Given the description of an element on the screen output the (x, y) to click on. 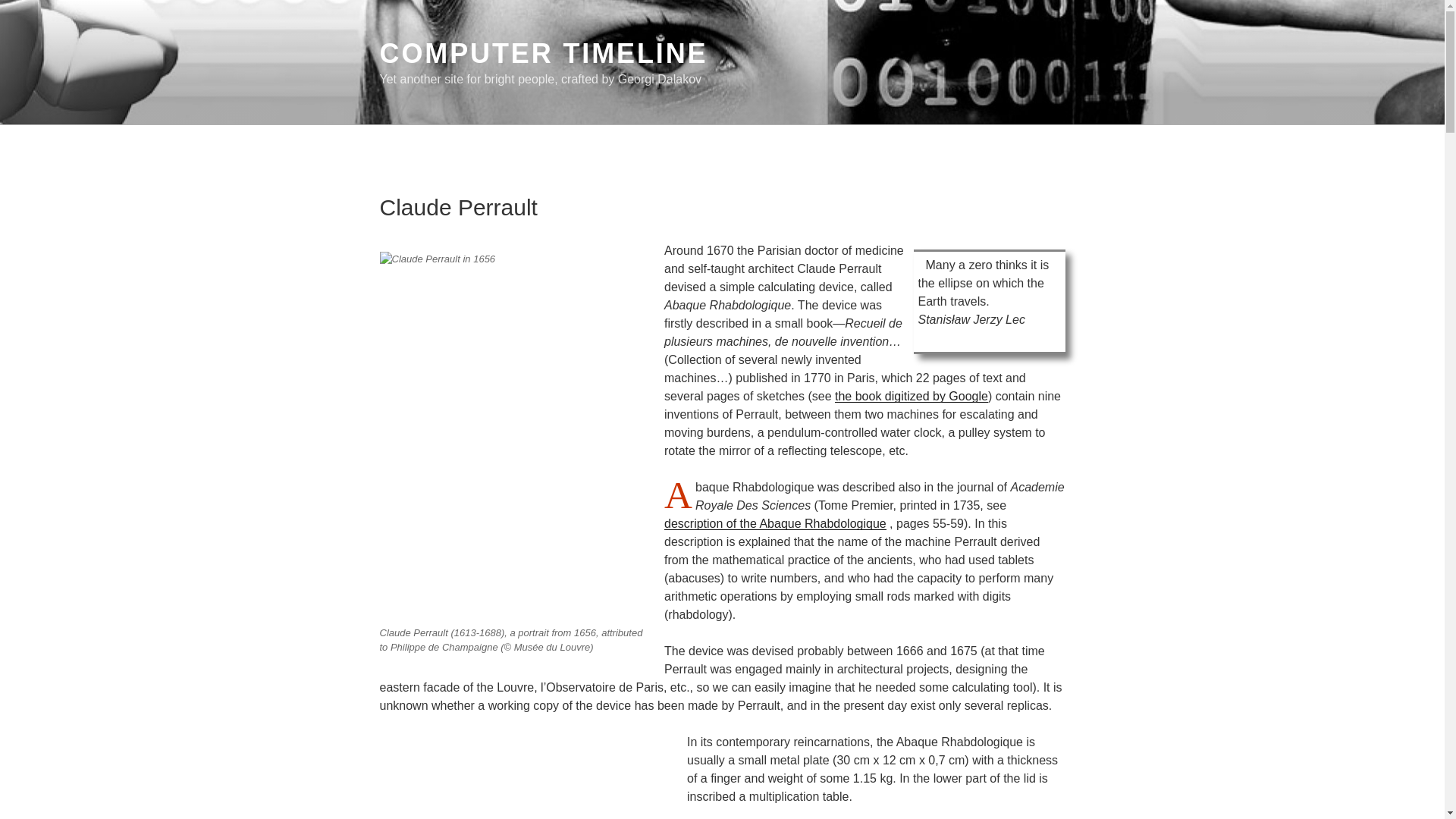
the book digitized by Google (911, 395)
description of the Abaque Rhabdologique (774, 522)
COMPUTER TIMELINE (542, 52)
